Given the description of an element on the screen output the (x, y) to click on. 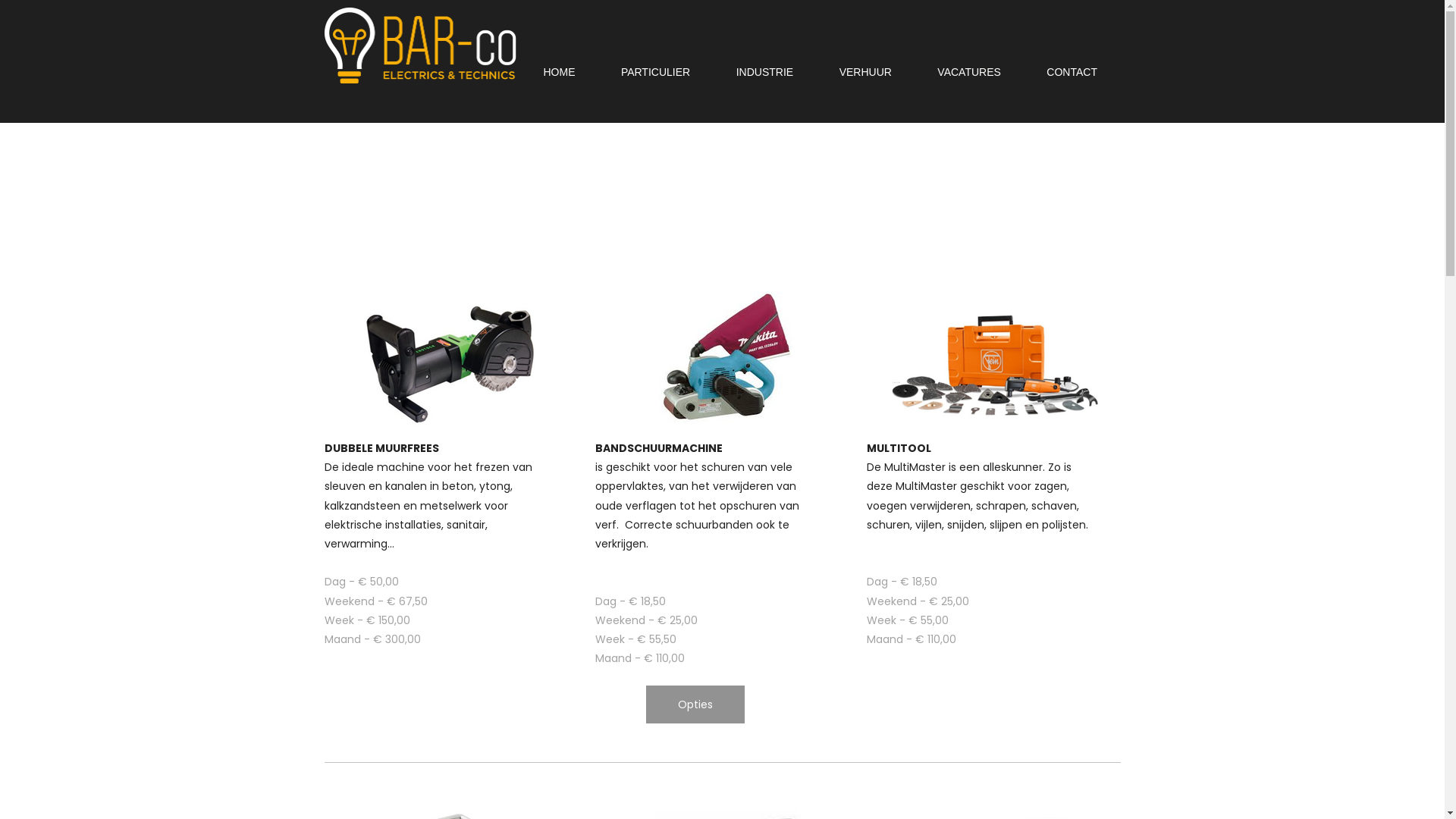
VACATURES Element type: text (968, 72)
Opties Element type: text (695, 704)
VERHUUR Element type: text (865, 72)
PARTICULIER Element type: text (655, 72)
HOME Element type: text (558, 72)
INDUSTRIE Element type: text (764, 72)
CONTACT Element type: text (1071, 72)
